Given the description of an element on the screen output the (x, y) to click on. 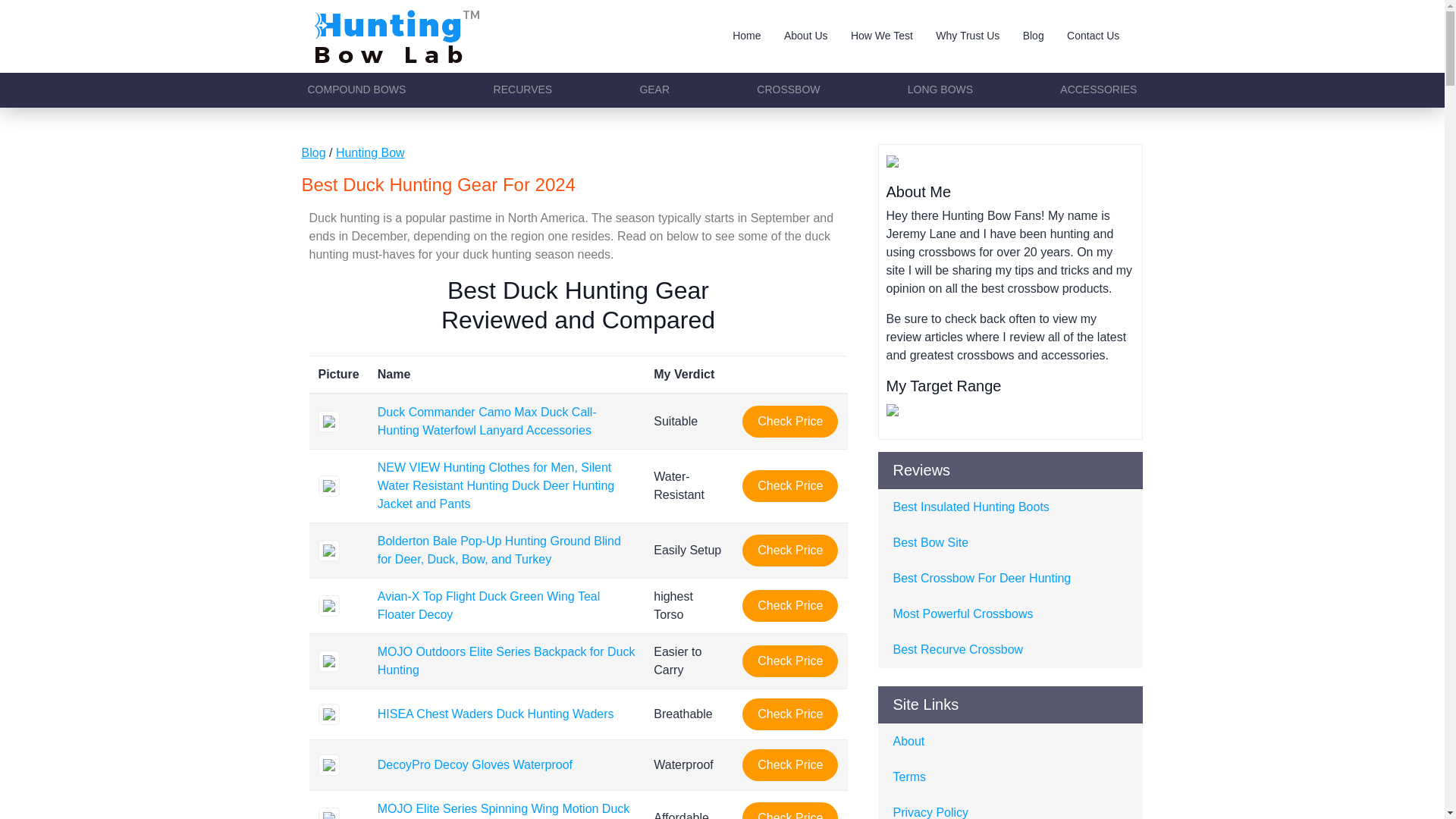
About Us (806, 36)
Avian-X Top Flight Duck Green Wing Teal Floater Decoy (488, 604)
Check Price (790, 765)
CROSSBOW (788, 89)
GEAR (654, 89)
MOJO Outdoors Elite Series Backpack for Duck Hunting (505, 660)
HISEA Chest Waders Duck Hunting Waders (495, 713)
Check Price (790, 714)
Check Price (790, 661)
